Given the description of an element on the screen output the (x, y) to click on. 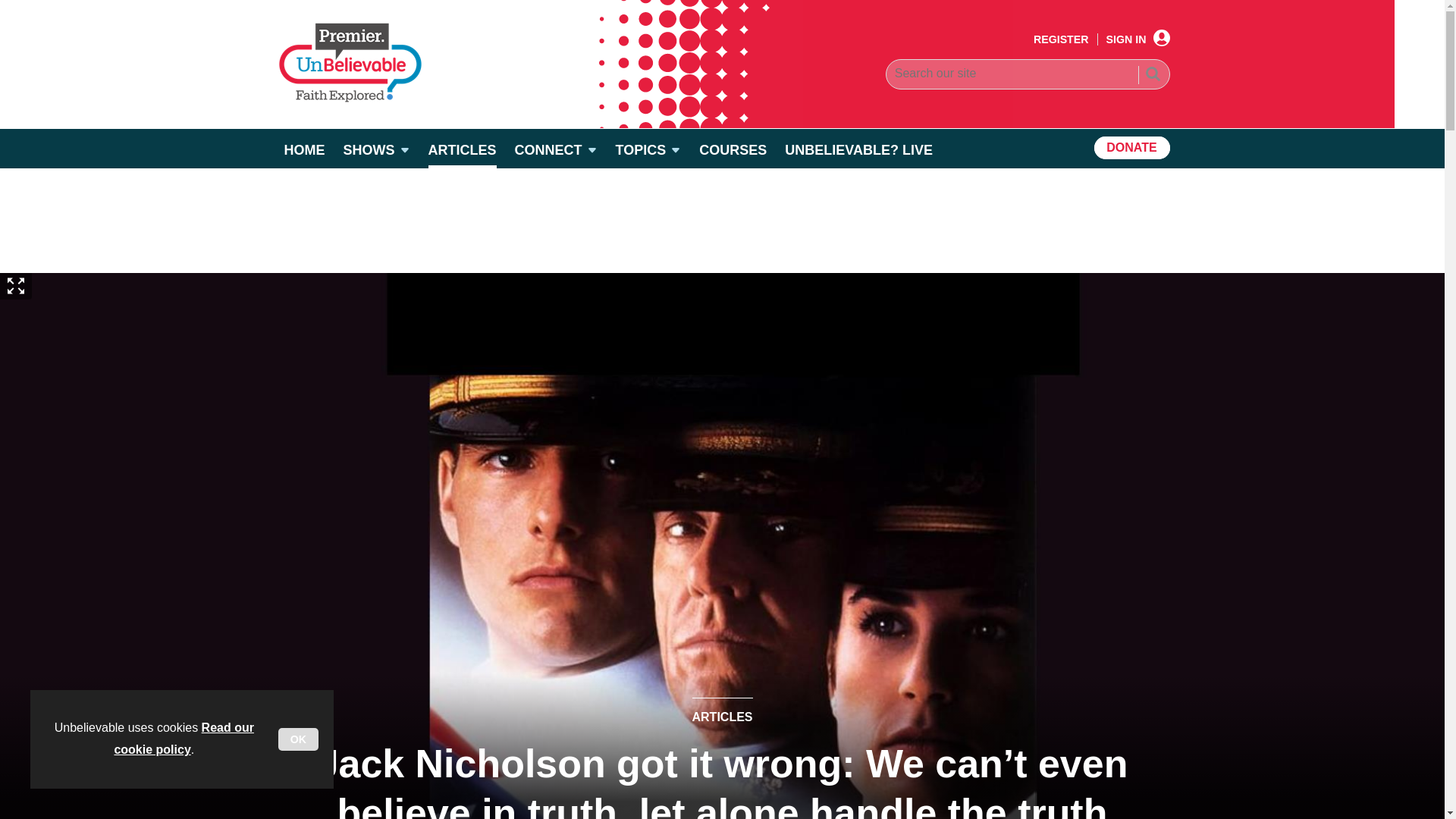
SIGN IN (1138, 39)
3rd party ad content (721, 220)
Read our cookie policy (183, 738)
SEARCH (1152, 75)
OK (298, 739)
REGISTER (1061, 39)
